Given the description of an element on the screen output the (x, y) to click on. 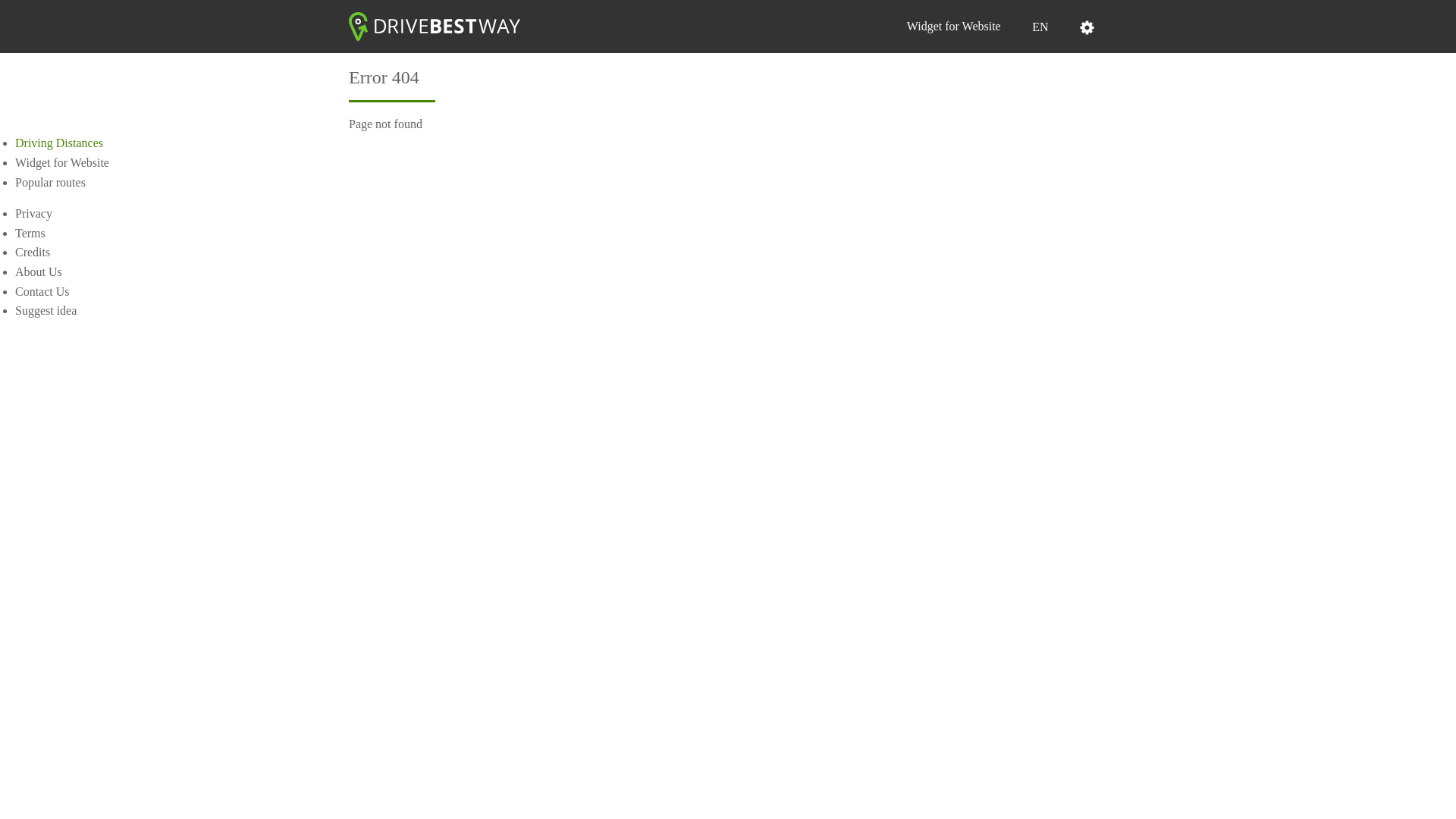
Driving Distances (58, 142)
